Given the description of an element on the screen output the (x, y) to click on. 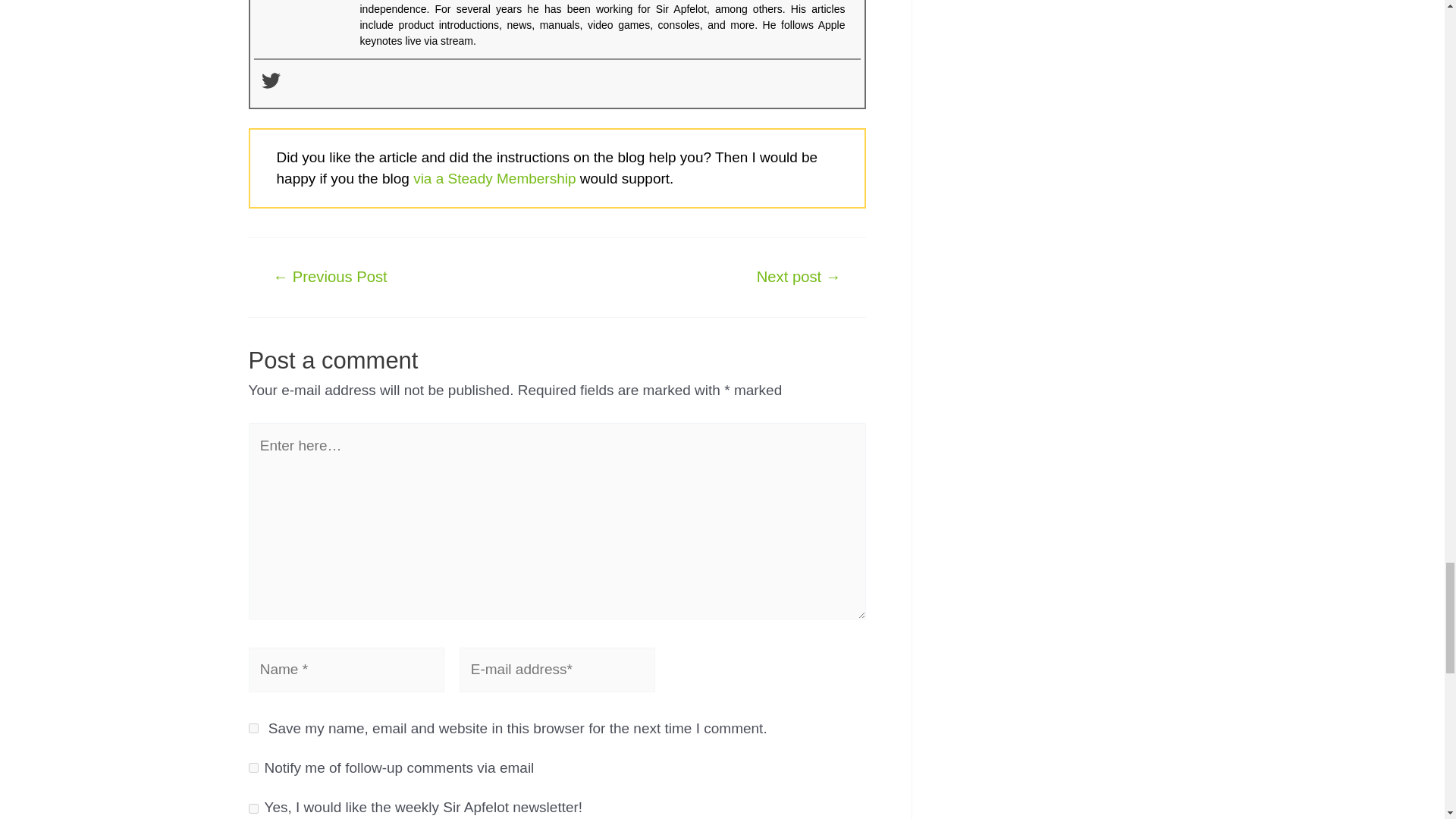
subscribe (253, 767)
yes (253, 728)
Block number on iPhone: Here's how! (330, 276)
1 (253, 808)
